Given the description of an element on the screen output the (x, y) to click on. 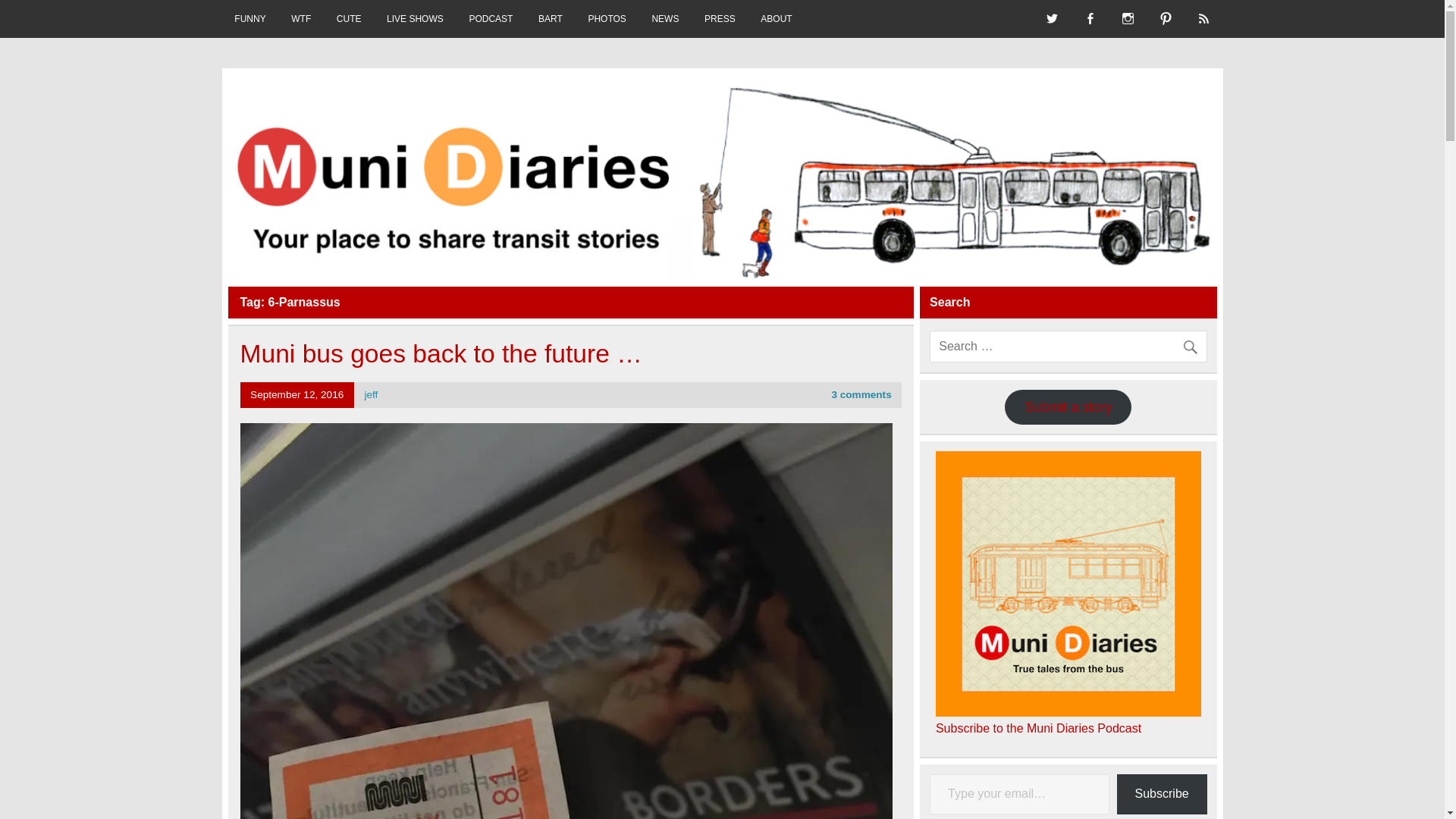
WTF (300, 18)
Muni Diaries (318, 94)
PODCAST (491, 18)
3 comments (861, 394)
September 12, 2016 (296, 394)
BART (550, 18)
View all posts by jeff (370, 394)
LIVE SHOWS (414, 18)
PRESS (719, 18)
10:09 am (296, 394)
jeff (370, 394)
CUTE (348, 18)
PHOTOS (607, 18)
NEWS (666, 18)
ABOUT (776, 18)
